Given the description of an element on the screen output the (x, y) to click on. 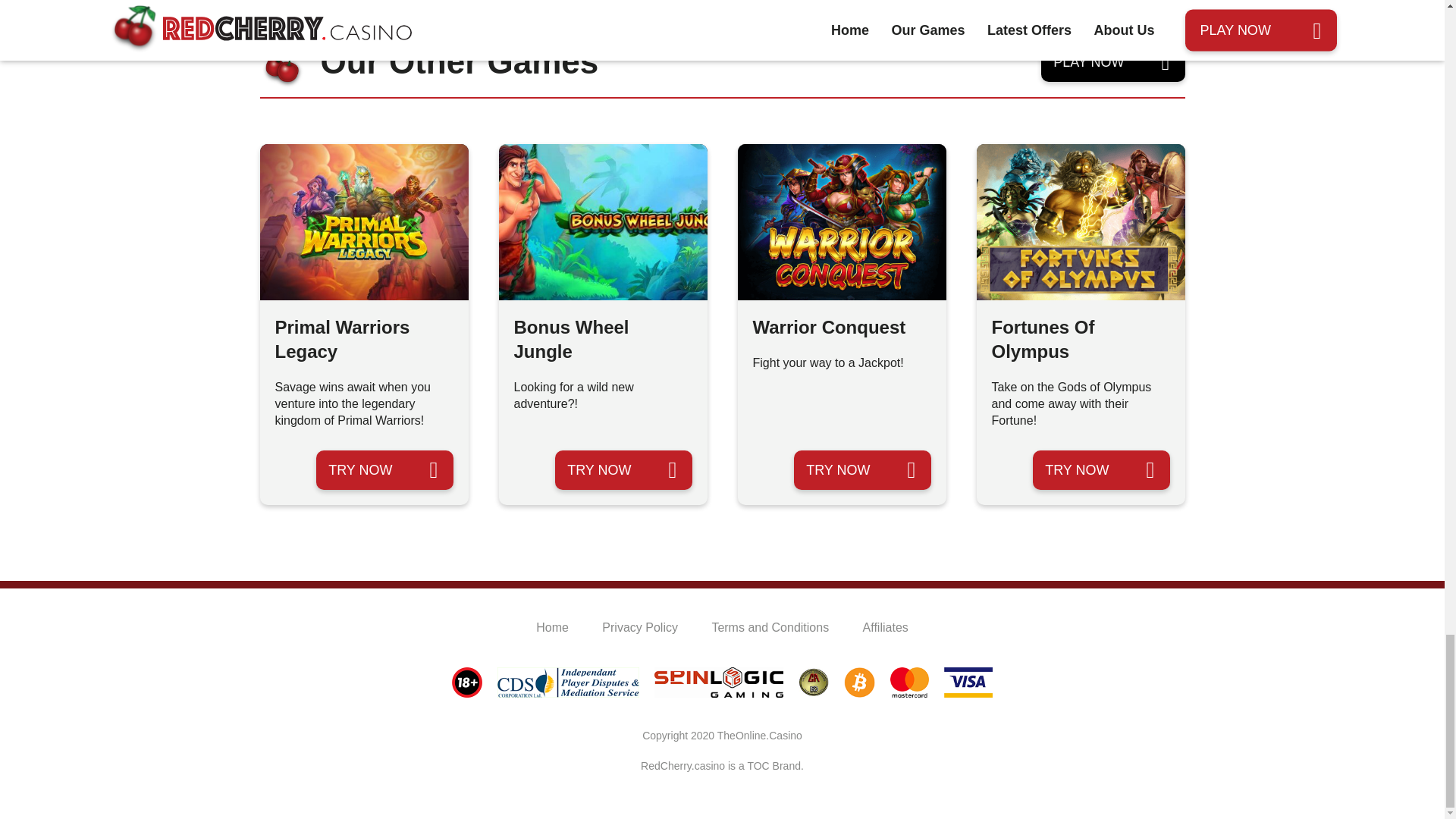
TRY NOW (1100, 469)
TRY NOW (622, 469)
Privacy Policy (640, 626)
PLAY NOW (1113, 61)
TRY NOW (861, 469)
TheOnline.Casino (759, 735)
TRY NOW (383, 469)
Terms and Conditions (769, 626)
Home (552, 626)
Affiliates (885, 626)
